Given the description of an element on the screen output the (x, y) to click on. 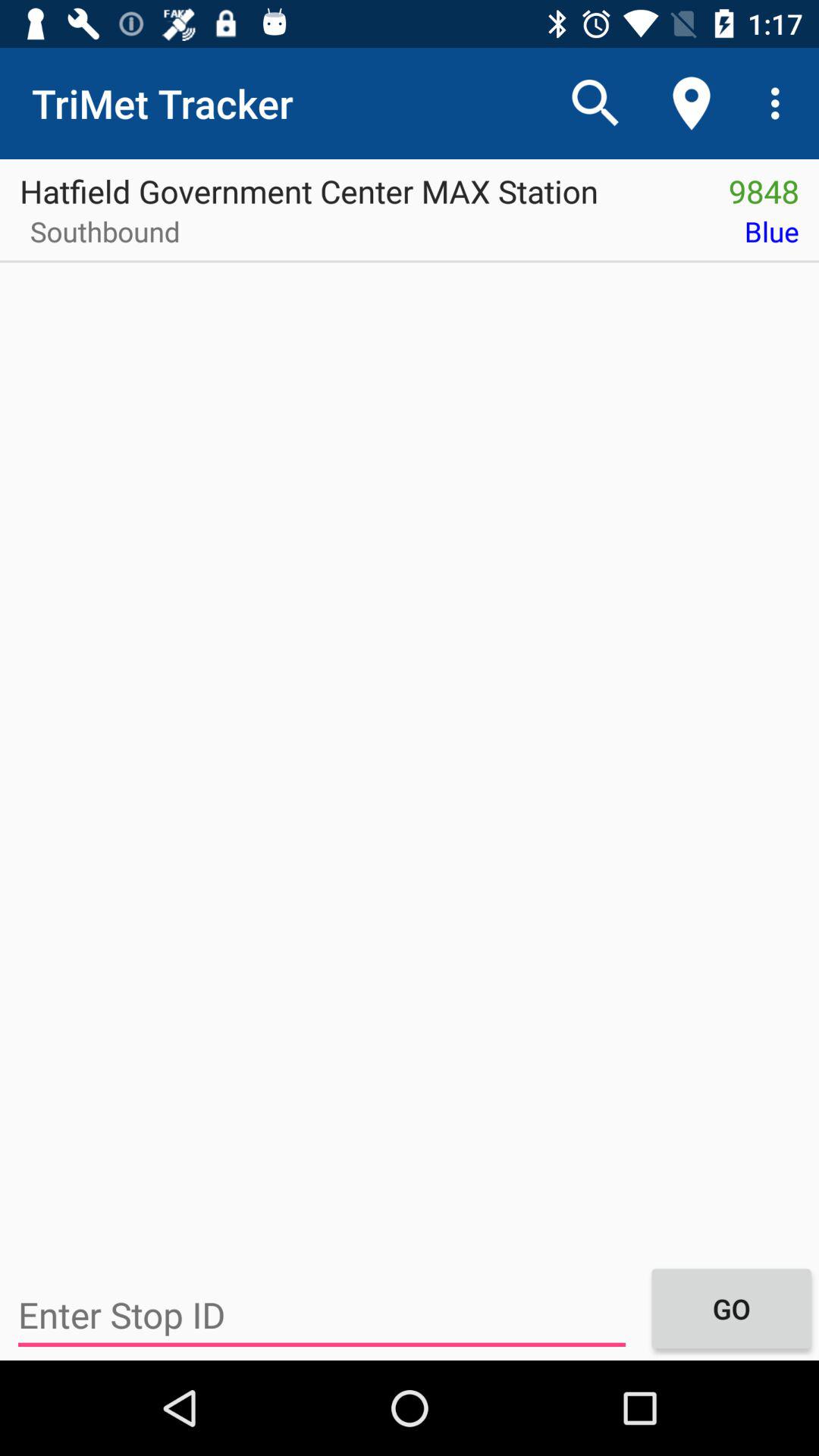
turn on icon above hatfield government center icon (595, 103)
